Given the description of an element on the screen output the (x, y) to click on. 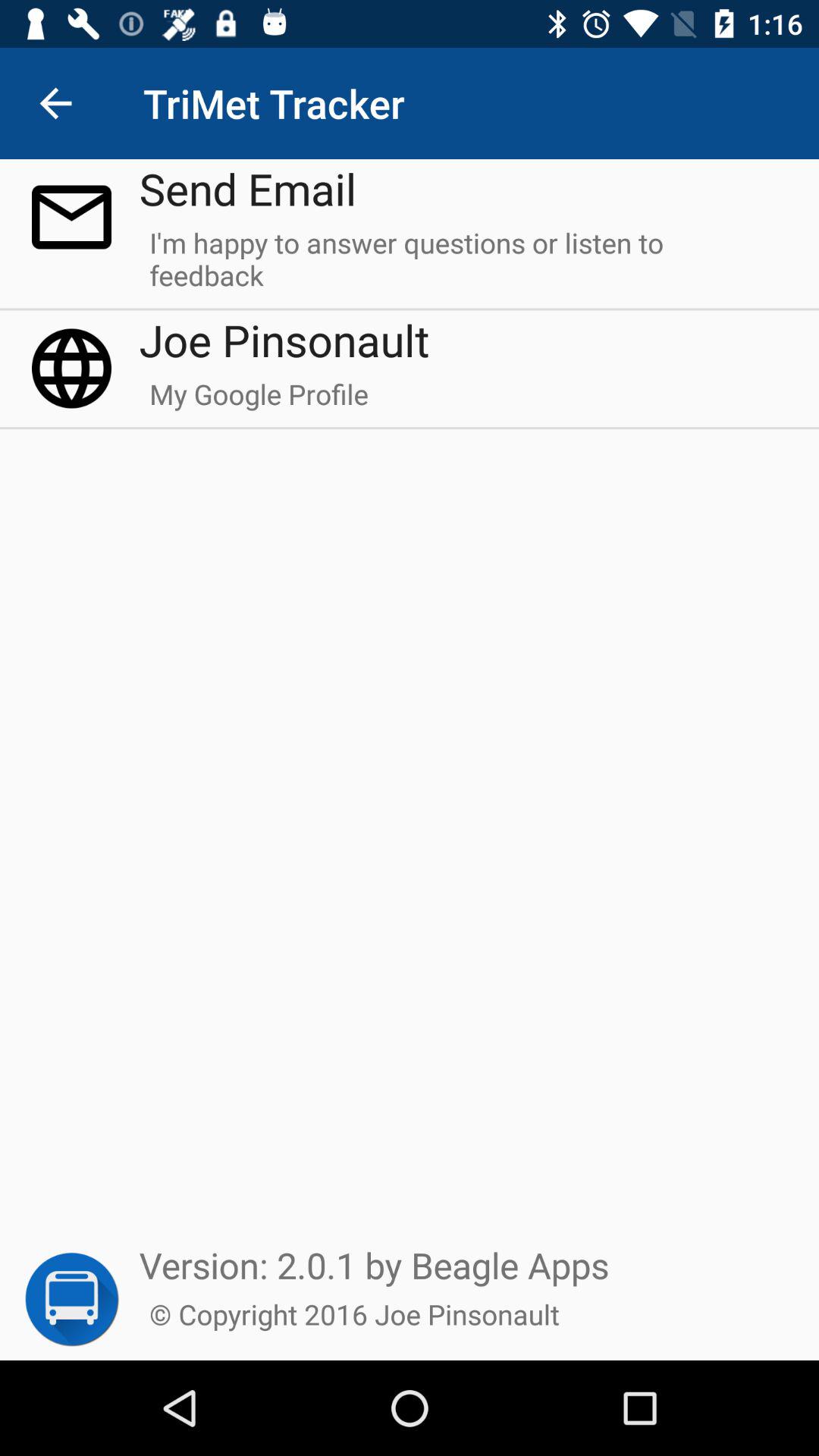
press icon above i m happy (247, 188)
